Given the description of an element on the screen output the (x, y) to click on. 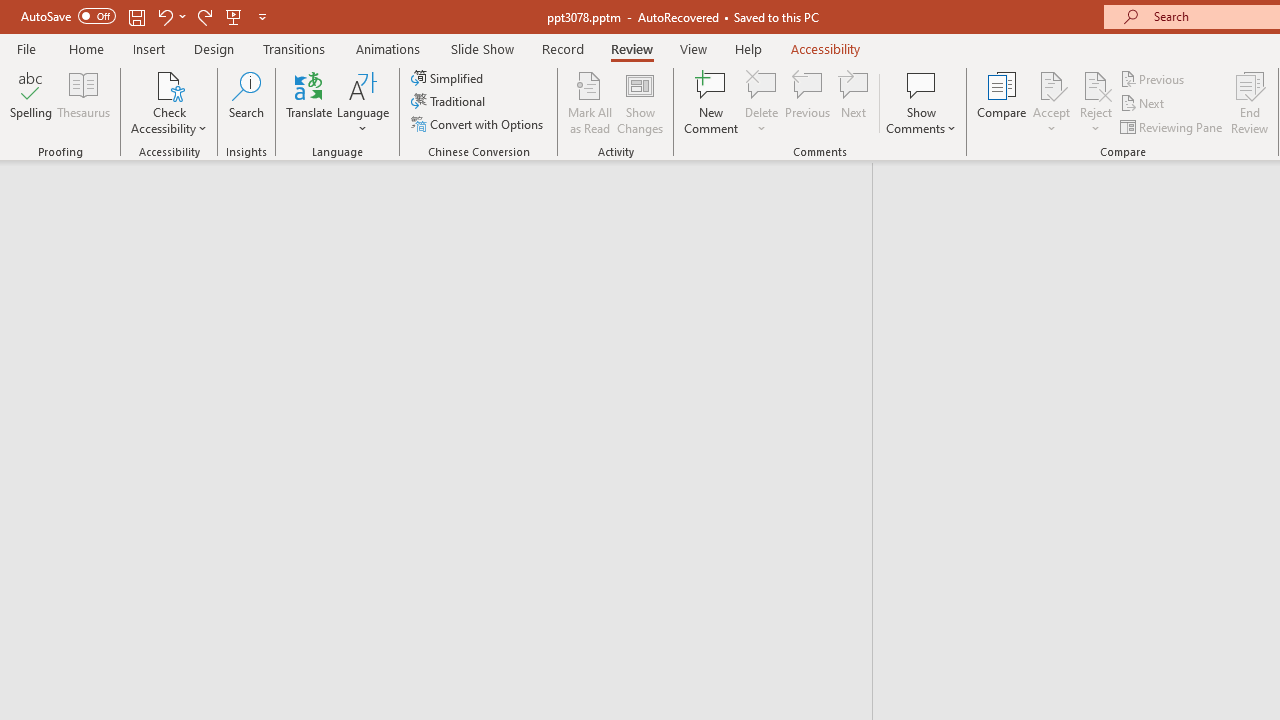
Simplified (449, 78)
Next (1144, 103)
New Comment (711, 102)
Convert with Options... (479, 124)
Reject Change (1096, 84)
Mark All as Read (589, 102)
